Given the description of an element on the screen output the (x, y) to click on. 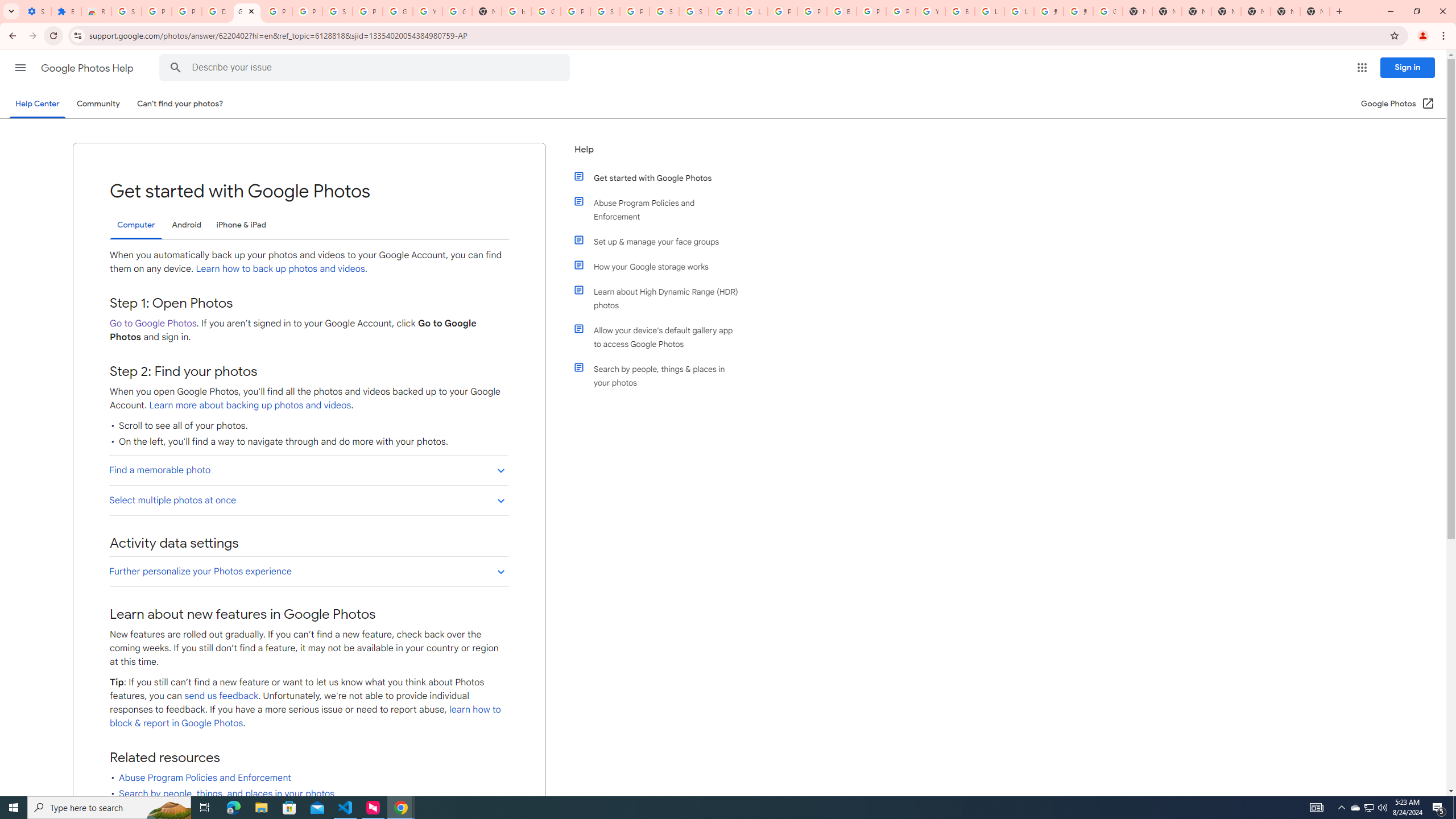
Android (186, 224)
Sign in - Google Accounts (693, 11)
Privacy Help Center - Policies Help (782, 11)
Delete photos & videos - Computer - Google Photos Help (216, 11)
Describe your issue (366, 67)
Learn more about backing up photos and videos (249, 405)
Abuse Program Policies and Enforcement (661, 209)
